Given the description of an element on the screen output the (x, y) to click on. 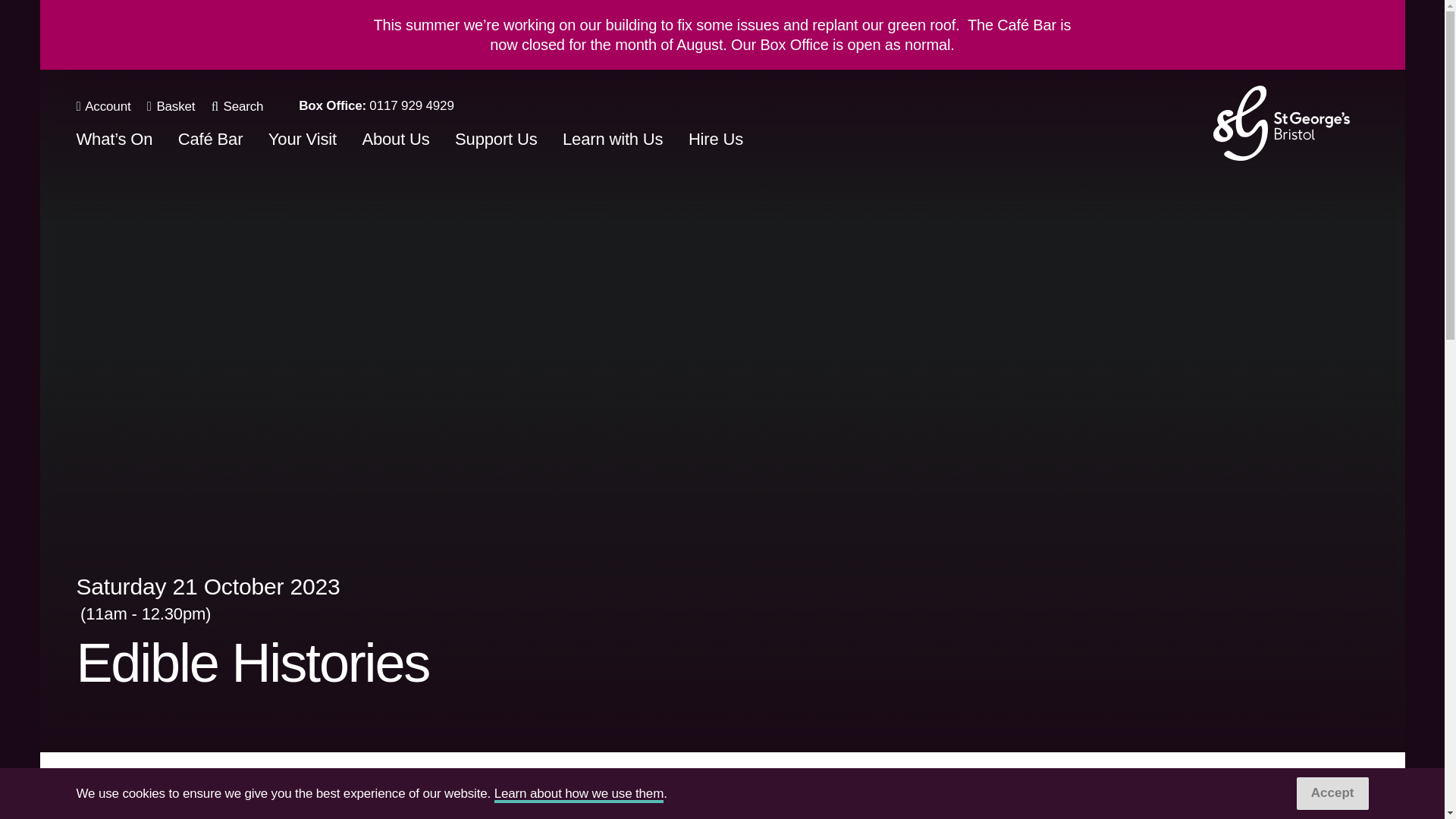
Accept (1332, 793)
Search (237, 106)
Account (102, 106)
Learn about how we use them (579, 794)
0117 929 4929 (411, 105)
Home (1280, 122)
Basket (171, 106)
